Given the description of an element on the screen output the (x, y) to click on. 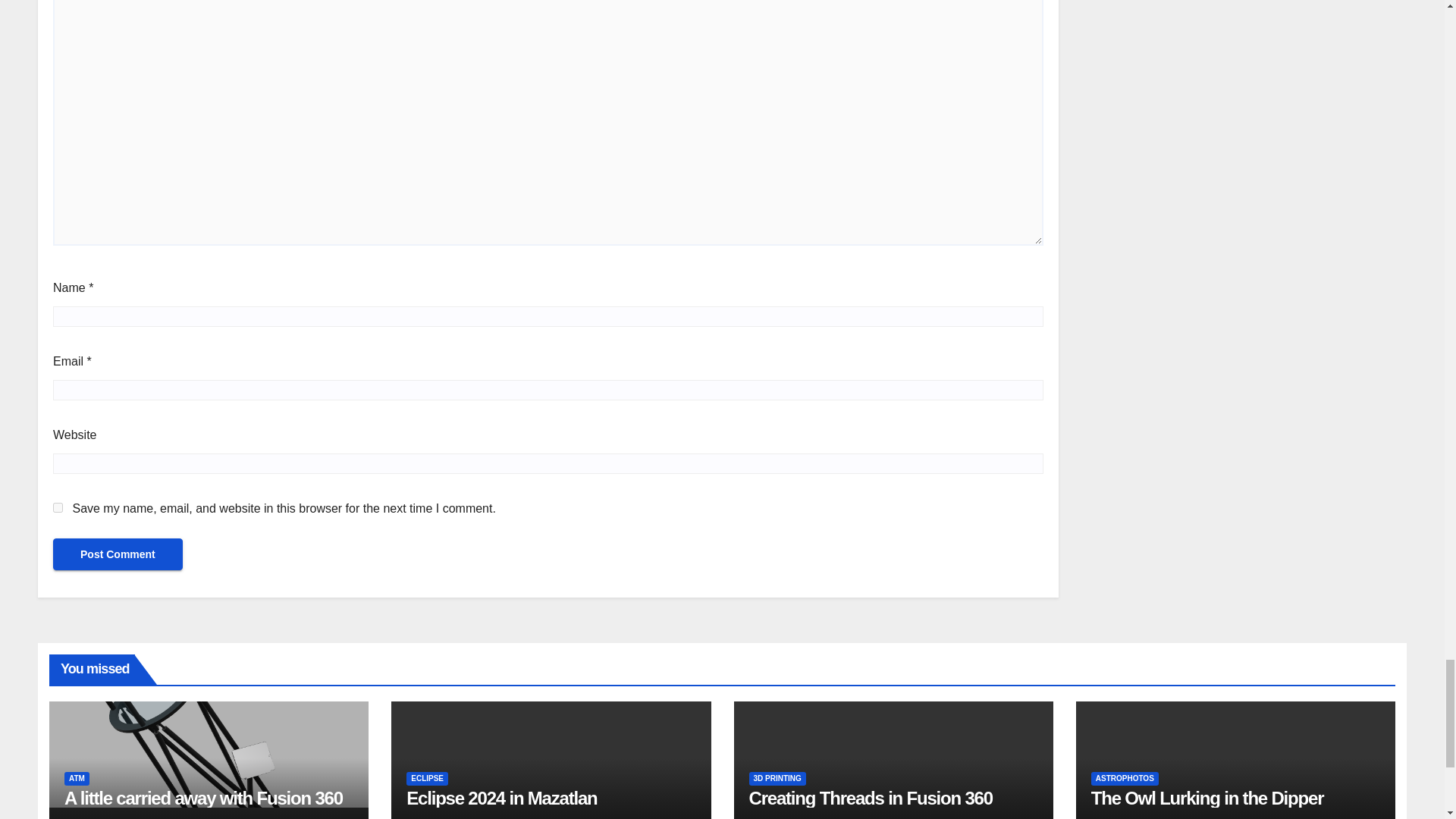
Post Comment (117, 554)
yes (57, 507)
